Given the description of an element on the screen output the (x, y) to click on. 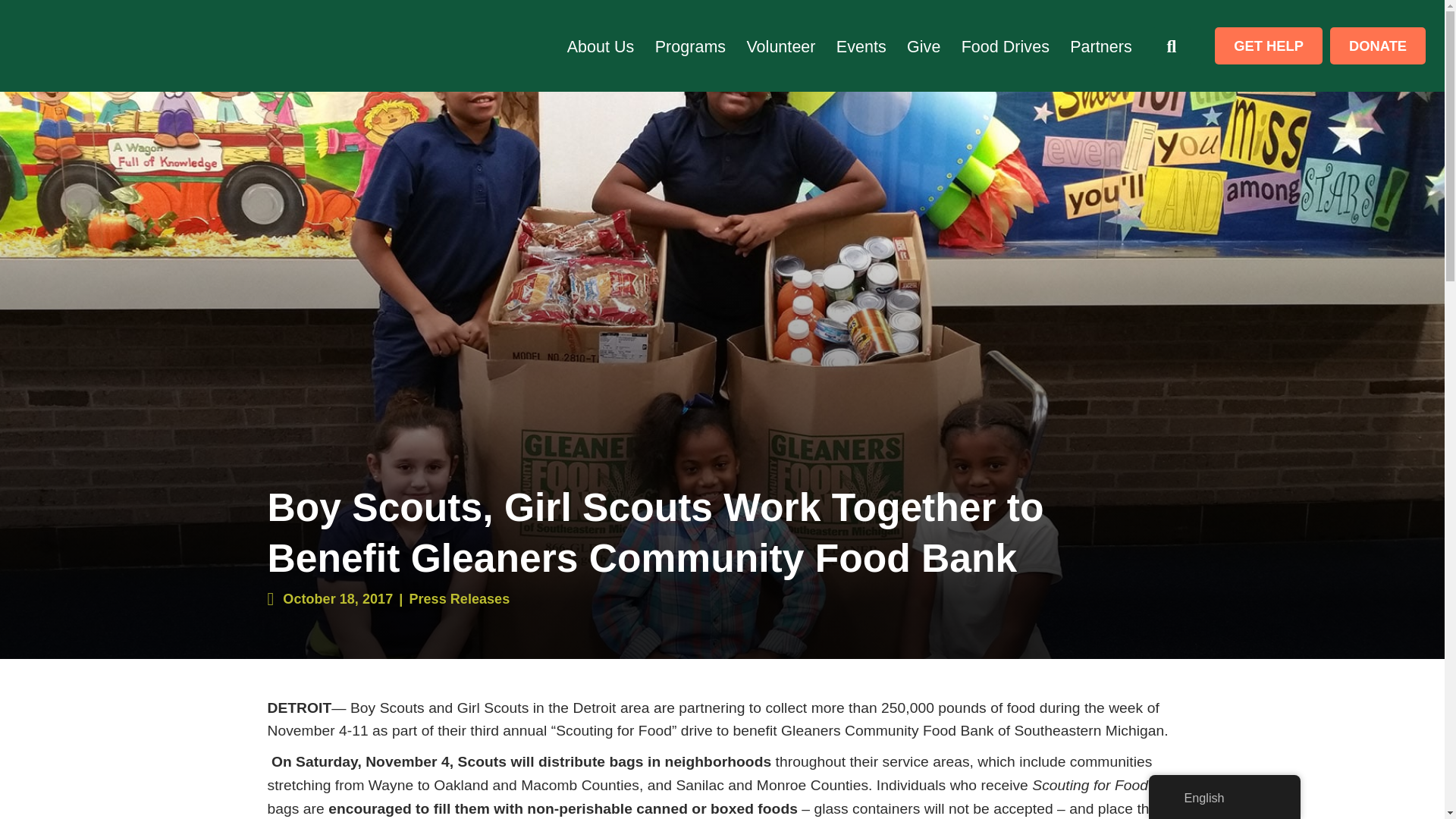
GET HELP (1268, 45)
Food Drives (1004, 46)
DONATE (1377, 45)
Partners (1101, 46)
About Us (600, 46)
Programs (690, 46)
GCFB Logo White Fa Seed (119, 45)
Volunteer (780, 46)
Events (860, 46)
Give (923, 46)
